Given the description of an element on the screen output the (x, y) to click on. 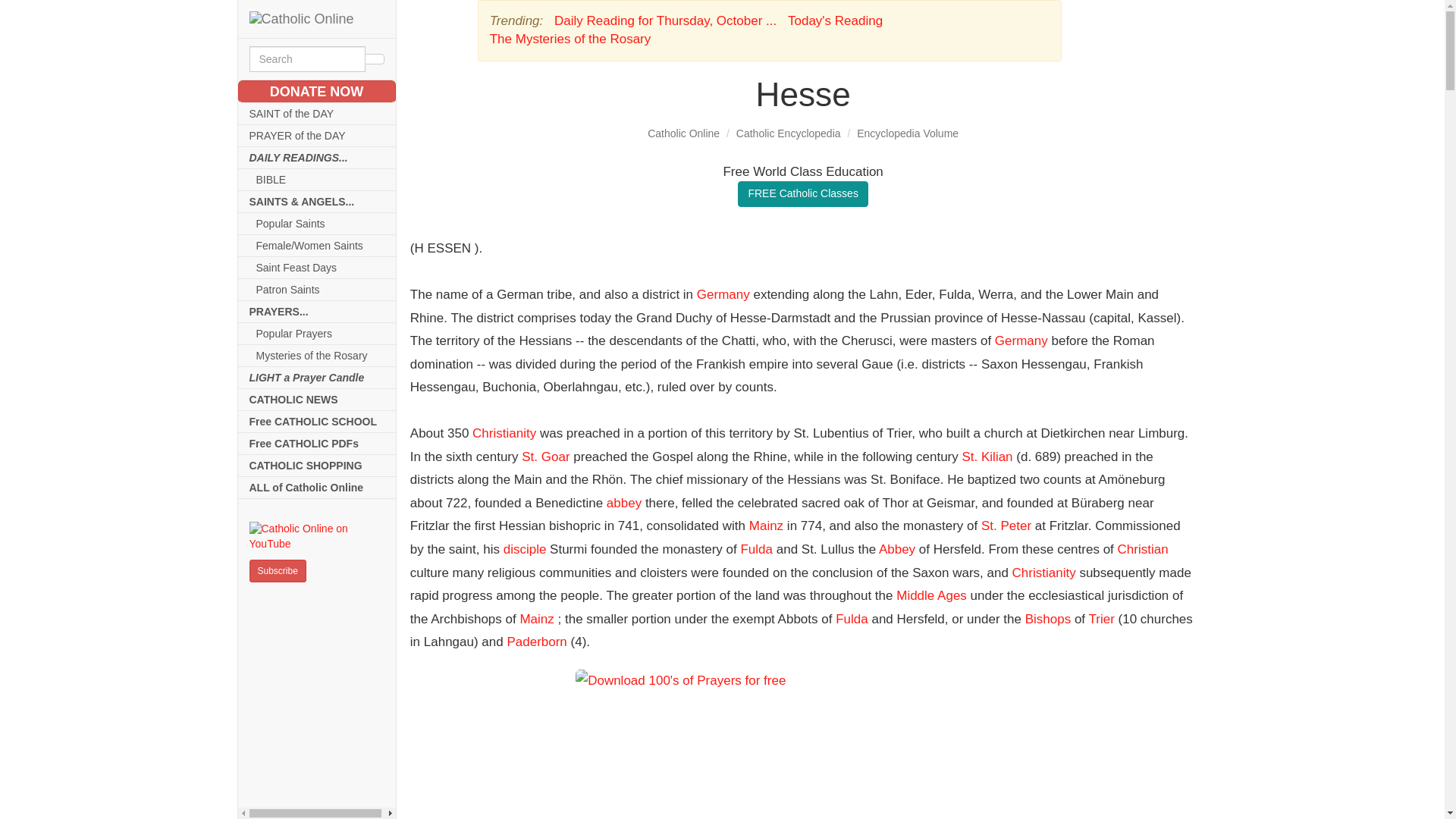
Christianity (503, 432)
Saint Feast Days (317, 268)
Today's Reading (834, 20)
Encyclopedia Volume (907, 133)
Free CATHOLIC PDFs (317, 444)
The Mysteries of the Rosary (569, 38)
Catholic Online on YouTube (316, 536)
CATHOLIC NEWS (317, 400)
CATHOLIC SHOPPING (317, 465)
DAILY READINGS... (317, 157)
